Given the description of an element on the screen output the (x, y) to click on. 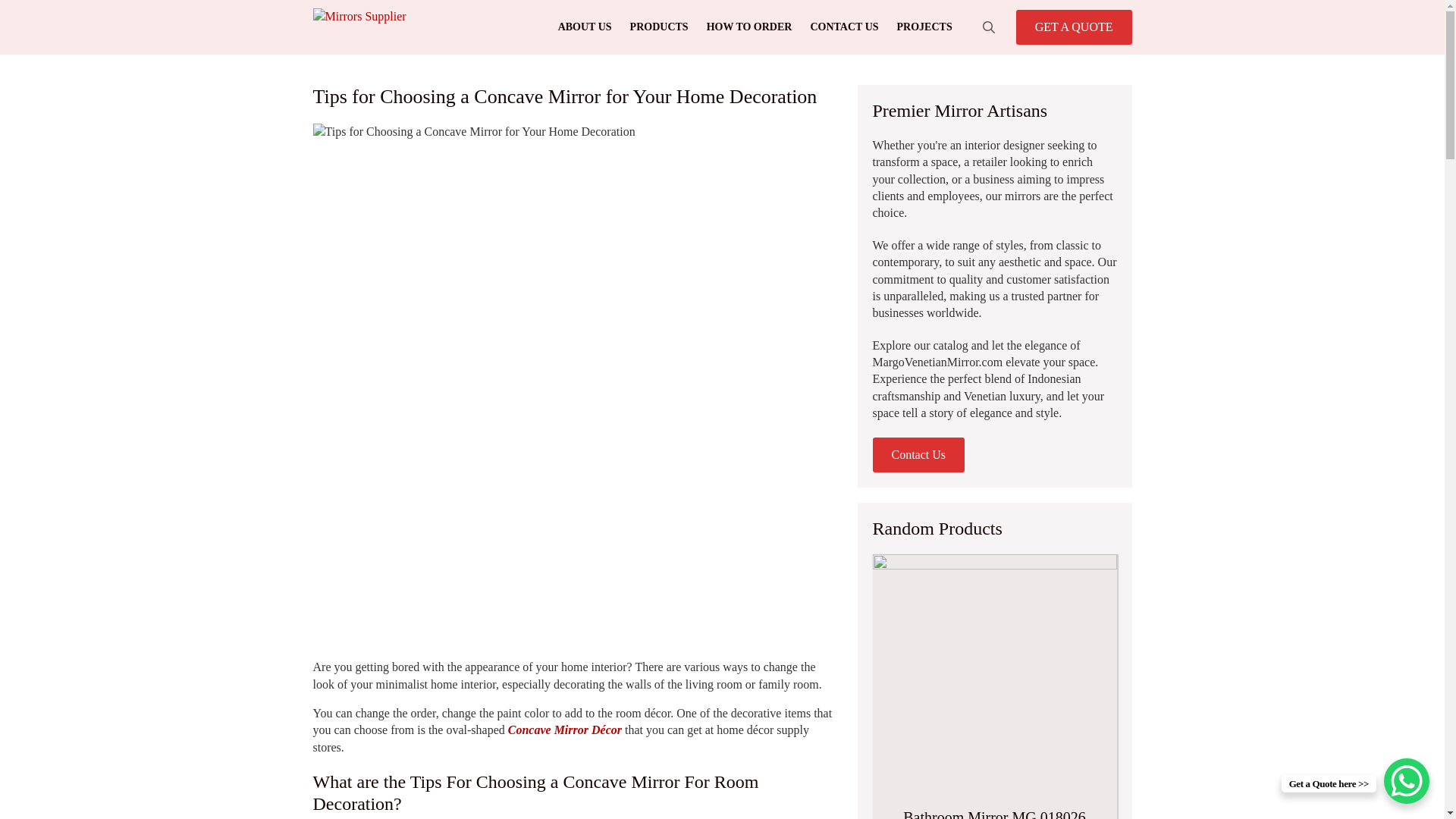
GET A QUOTE (1074, 27)
PRODUCTS (659, 27)
PROJECTS (924, 27)
HOW TO ORDER (749, 27)
Bathroom Mirror MG 018026 (994, 686)
ABOUT US (584, 27)
CONTACT US (843, 27)
Contact Us (917, 454)
